Given the description of an element on the screen output the (x, y) to click on. 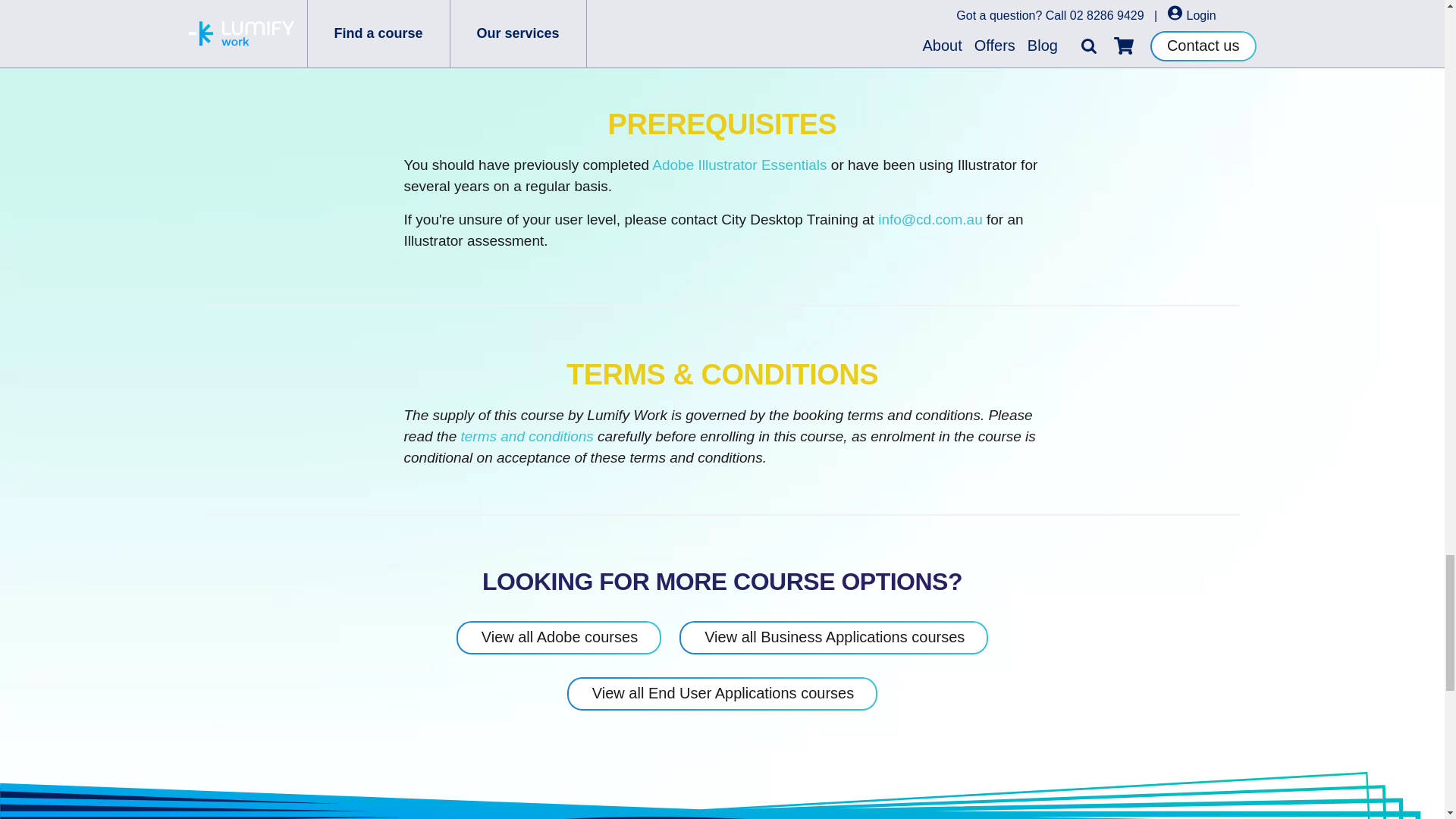
View all End User Applications courses (722, 693)
View all Adobe courses (559, 637)
Adobe Illustrator Essentials (739, 164)
View all Business Applications courses (833, 637)
READ MORE (481, 0)
terms and conditions (527, 436)
